Given the description of an element on the screen output the (x, y) to click on. 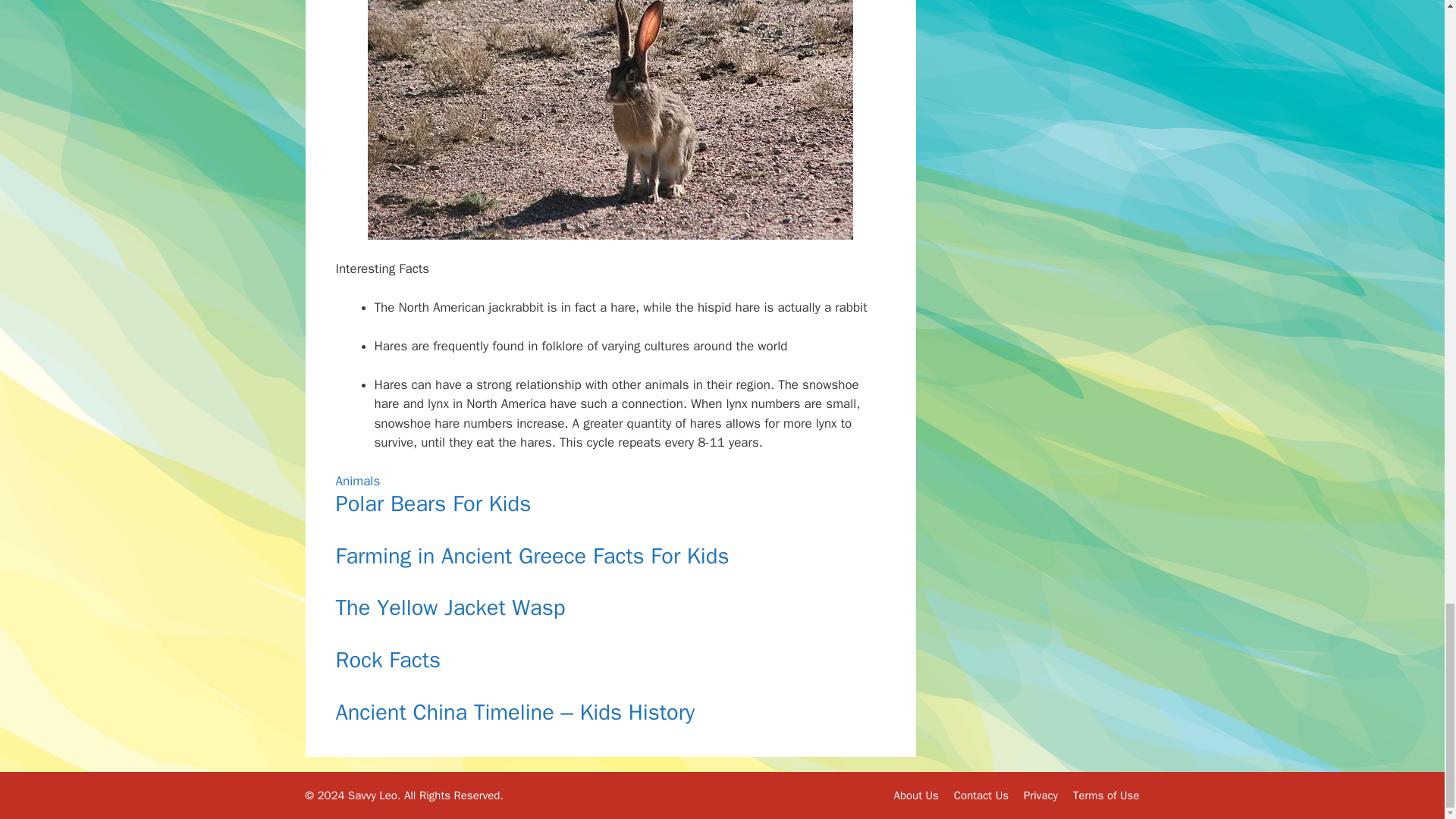
Rock Facts (386, 660)
The Yellow Jacket Wasp (449, 607)
Contact Us (981, 795)
Privacy (1040, 795)
Animals (357, 480)
Terms of Use (1106, 795)
Farming in Ancient Greece Facts For Kids (531, 556)
Polar Bears For Kids (432, 503)
About Us (915, 795)
